Given the description of an element on the screen output the (x, y) to click on. 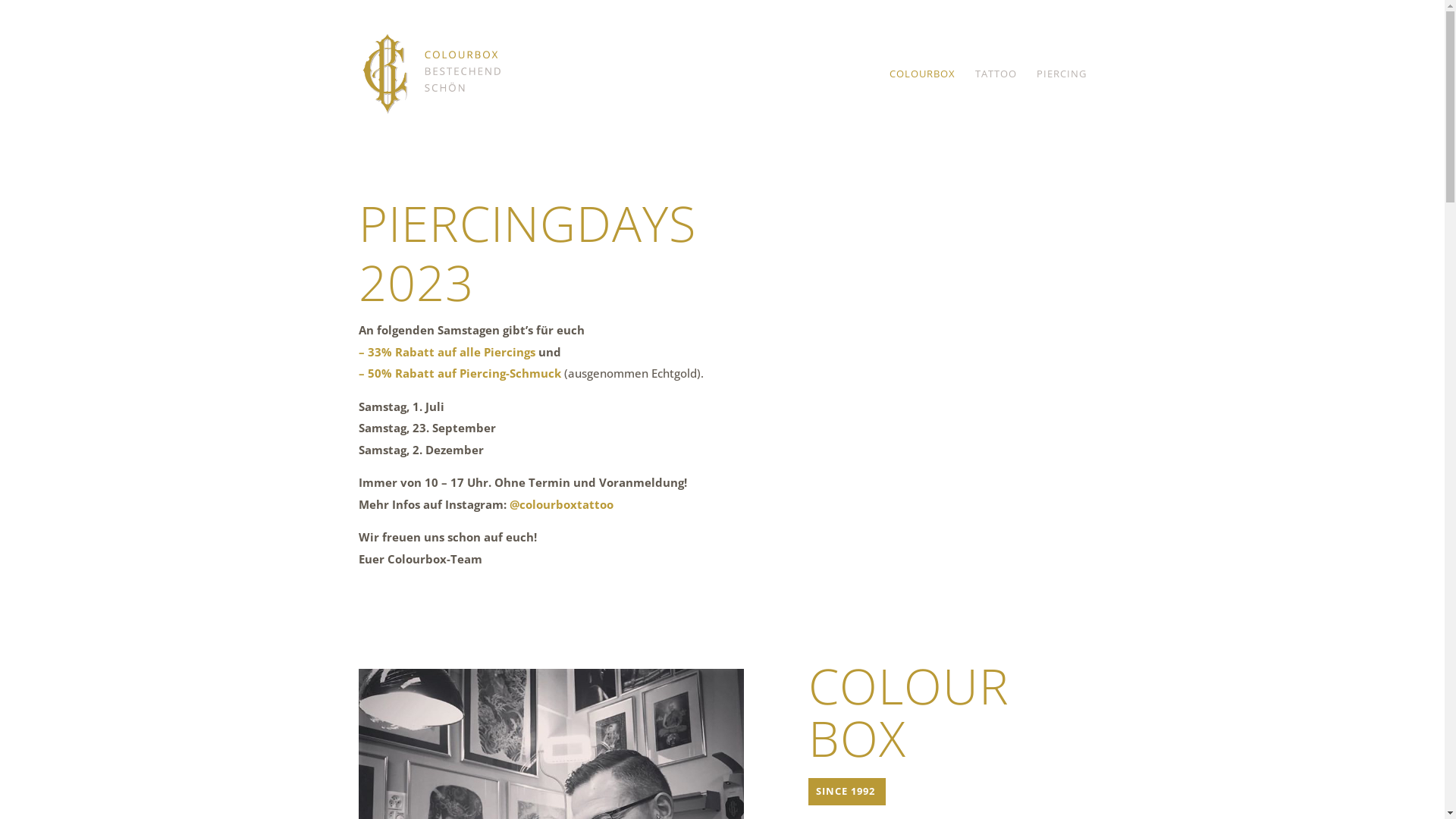
 @colourboxtattoo Element type: text (559, 503)
TATTOO Element type: text (995, 107)
PIERCING Element type: text (1060, 107)
COLOURBOX Element type: text (921, 107)
